Given the description of an element on the screen output the (x, y) to click on. 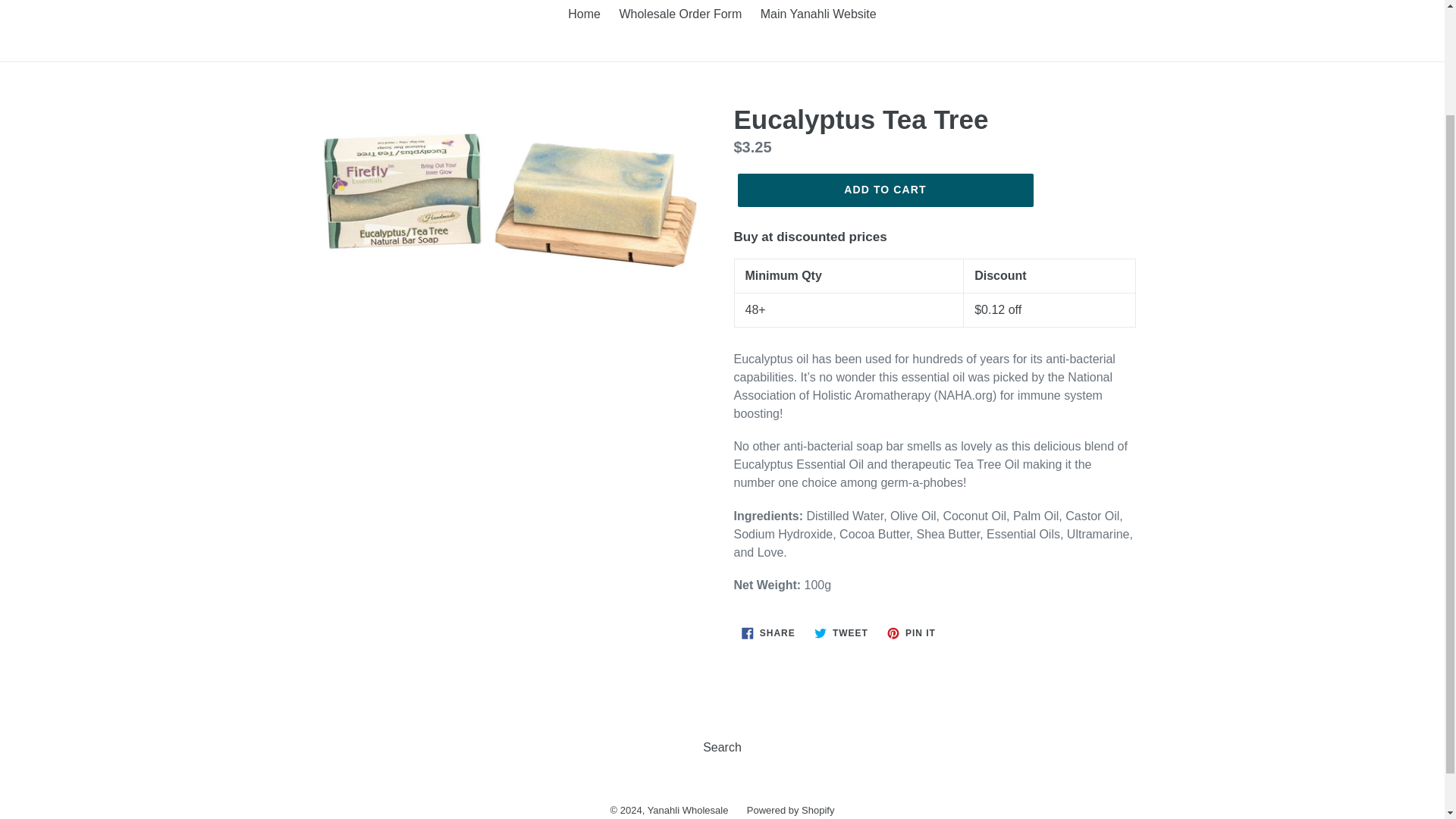
Home (584, 14)
Powered by Shopify (790, 809)
ADD TO CART (884, 190)
Main Yanahli Website (911, 632)
Wholesale Order Form (817, 14)
Yanahli Wholesale (768, 632)
Search (841, 632)
